Given the description of an element on the screen output the (x, y) to click on. 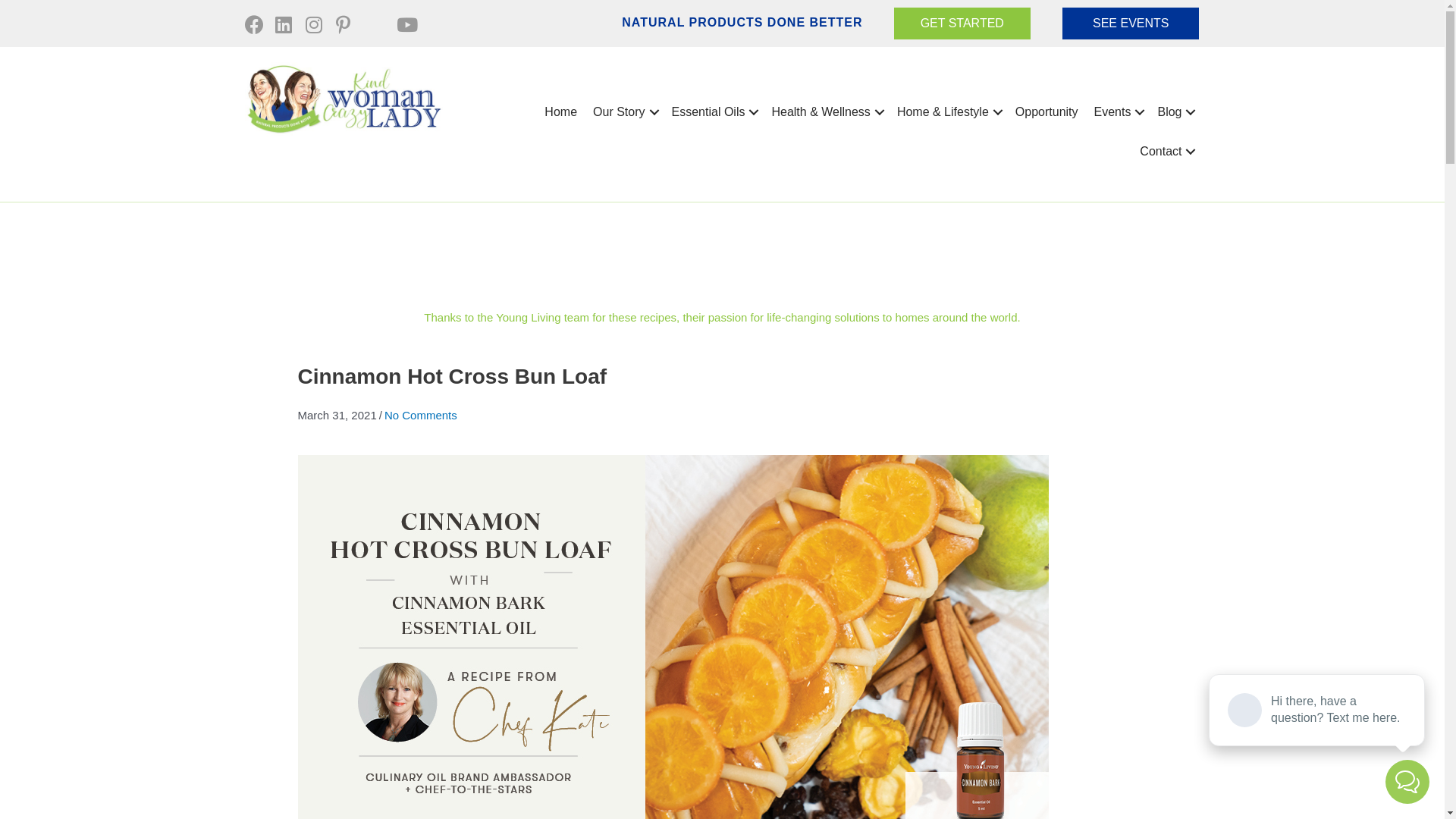
Blog Element type: text (1174, 111)
Home & Lifestyle Element type: text (948, 111)
GET STARTED Element type: text (962, 23)
logo web Element type: hover (343, 99)
Contact Element type: text (1165, 151)
Health & Wellness Element type: text (825, 111)
Opportunity Element type: text (1046, 111)
Events Element type: text (1117, 111)
YouTube Element type: hover (403, 22)
No Comments Element type: text (420, 414)
Instagram Element type: hover (312, 22)
Our Story Element type: text (623, 111)
Facebook Element type: hover (251, 22)
Pinterest Element type: hover (342, 22)
SEE EVENTS Element type: text (1130, 23)
Home Element type: text (560, 111)
Cinnamon Hot Cross Bun Loaf Element type: hover (672, 650)
Essential Oils Element type: text (713, 111)
LinkedIn Element type: hover (281, 22)
